Given the description of an element on the screen output the (x, y) to click on. 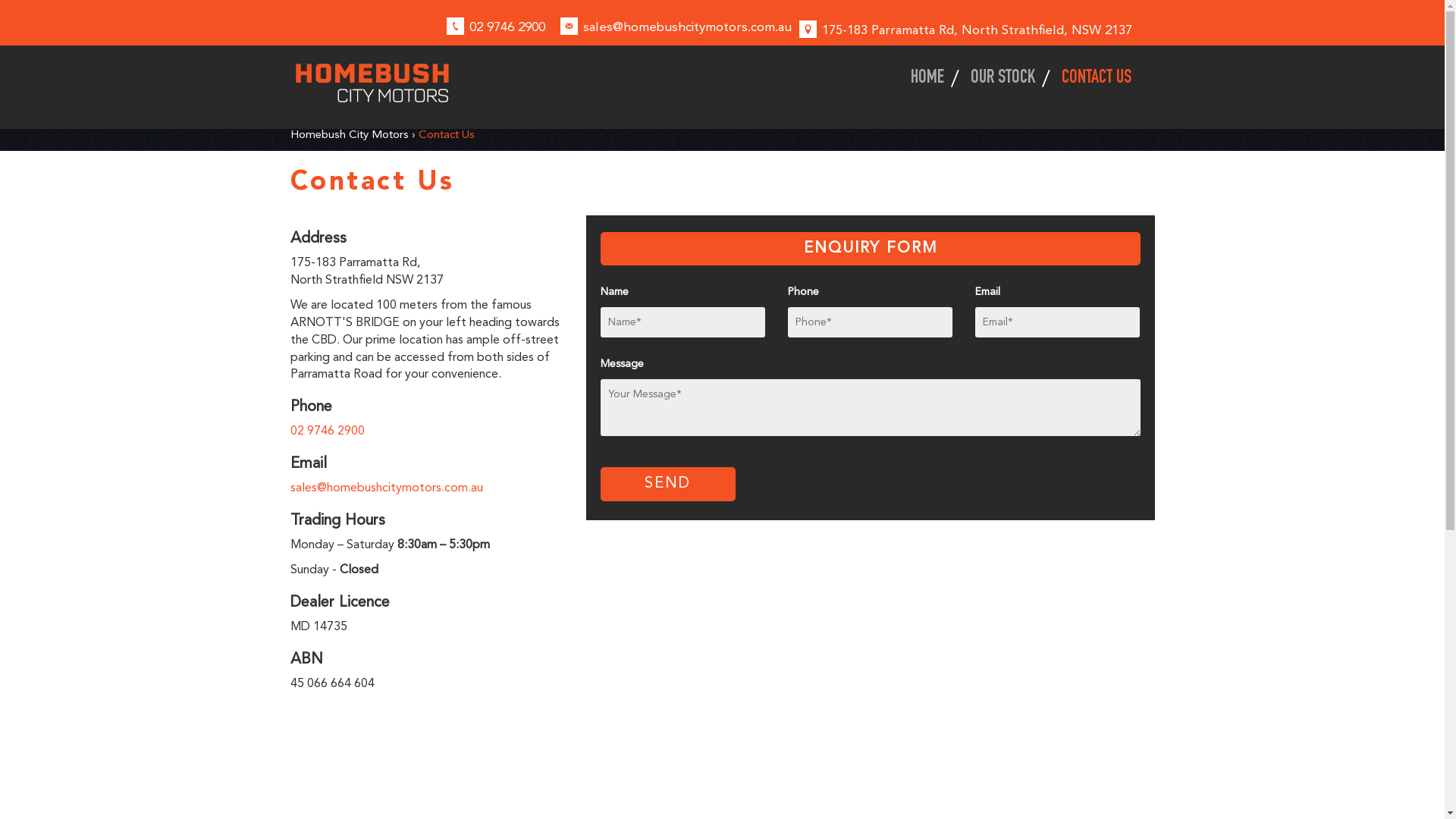
175-183 Parramatta Rd, North Strathfield, NSW 2137 Element type: text (977, 30)
HOME Element type: text (929, 78)
02 9746 2900 Element type: text (326, 431)
CONTACT US Element type: text (1089, 78)
sales@homebushcitymotors.com.au Element type: text (686, 27)
OUR STOCK Element type: text (1003, 78)
SEND Element type: text (667, 484)
Homebush City Motors Element type: text (348, 135)
sales@homebushcitymotors.com.au Element type: text (385, 488)
02 9746 2900 Element type: text (506, 27)
Contact Us Element type: text (446, 135)
